Given the description of an element on the screen output the (x, y) to click on. 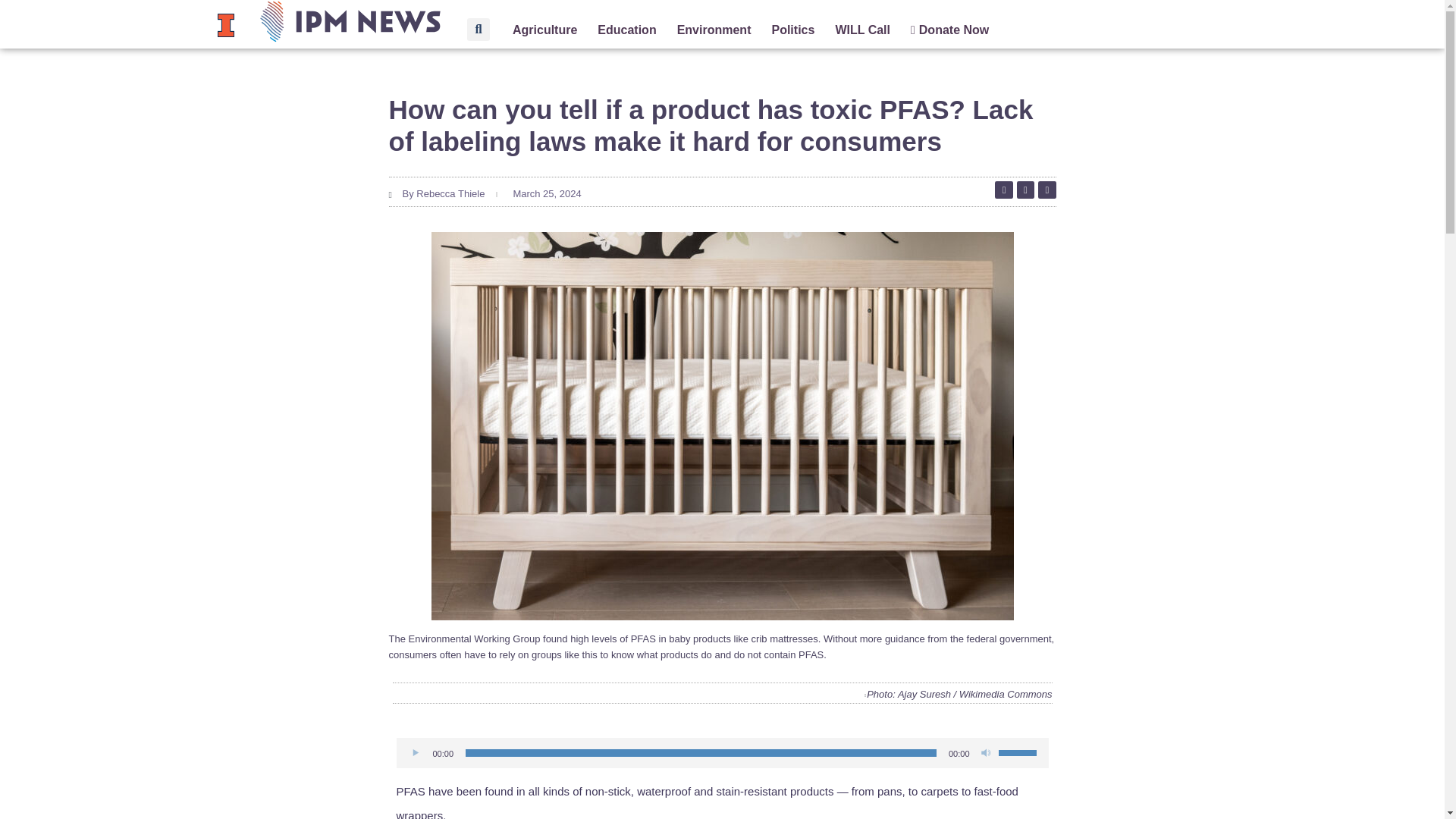
Play (415, 752)
Donate Now (949, 30)
Agriculture (544, 30)
March 25, 2024 (544, 194)
Mute (985, 752)
Environment (714, 30)
Education (626, 30)
Politics (792, 30)
WILL Call (861, 30)
